Given the description of an element on the screen output the (x, y) to click on. 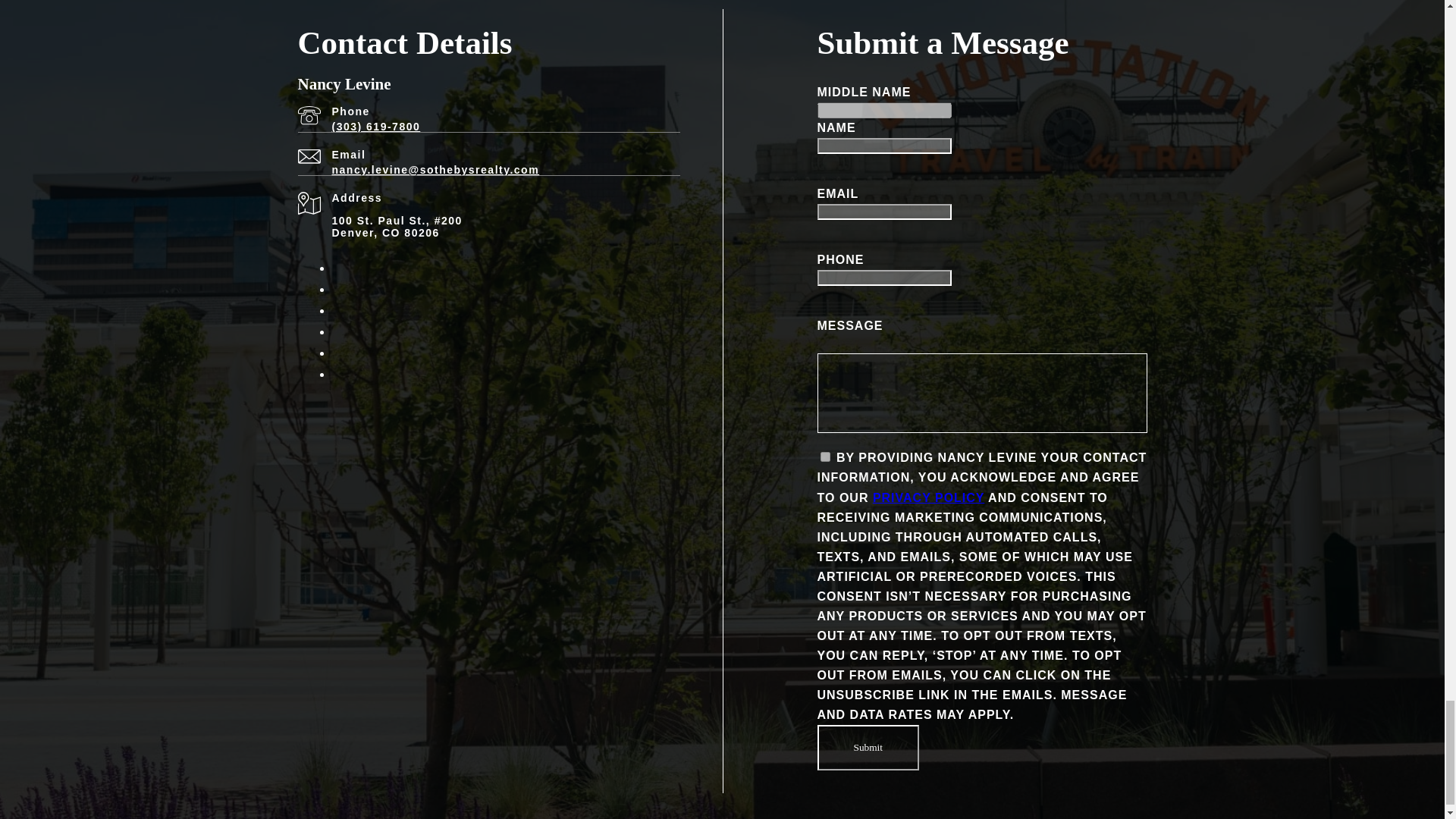
on (825, 456)
